Given the description of an element on the screen output the (x, y) to click on. 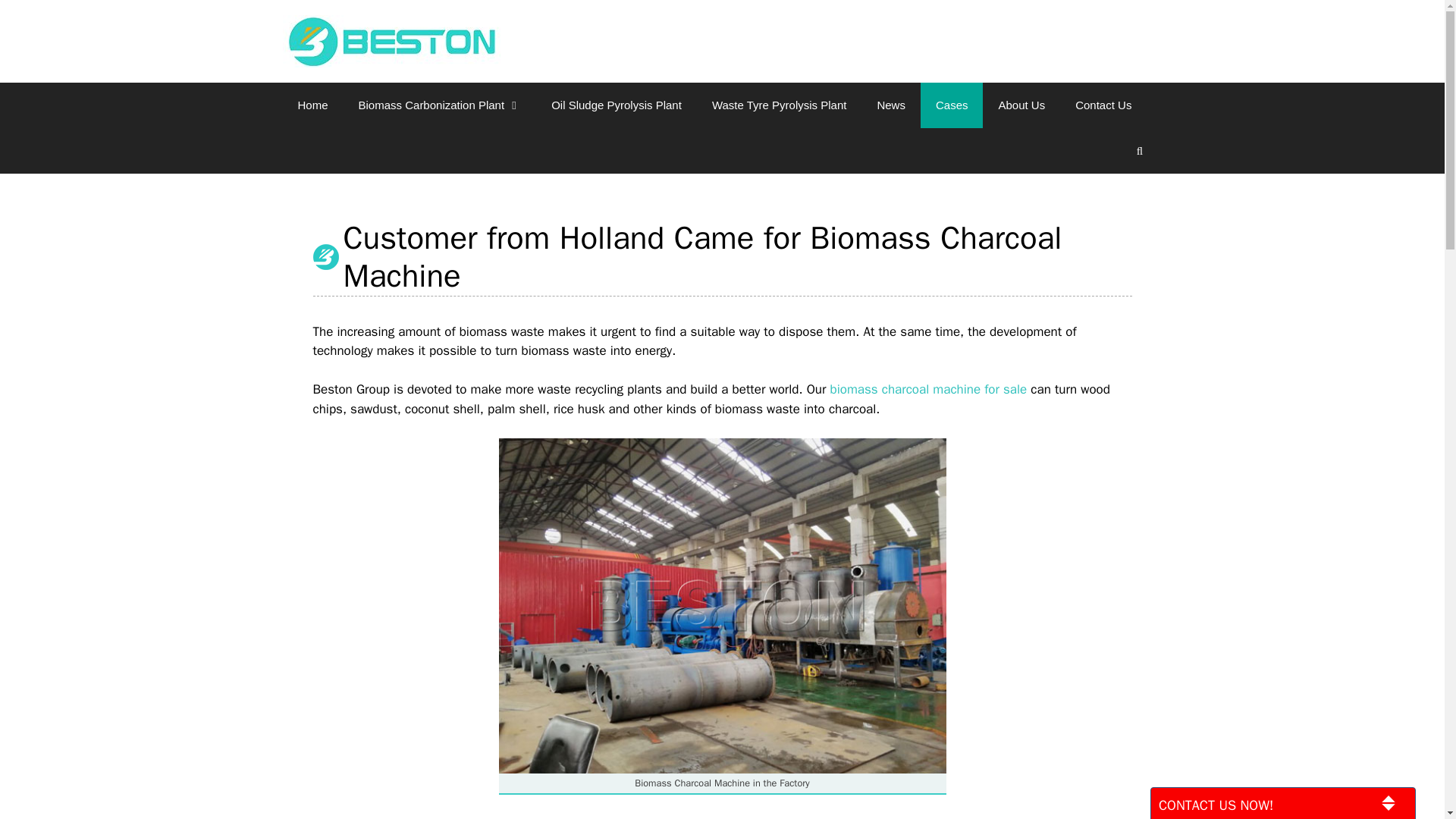
Oil Sludge Pyrolysis Plant (616, 104)
Municipal Solid Waste Recycling Plant (390, 40)
News (890, 104)
Home (312, 104)
Biomass Carbonization Plant (440, 104)
Municipal Solid Waste Recycling Plant (390, 41)
Waste Tyre Pyrolysis Plant (779, 104)
